Given the description of an element on the screen output the (x, y) to click on. 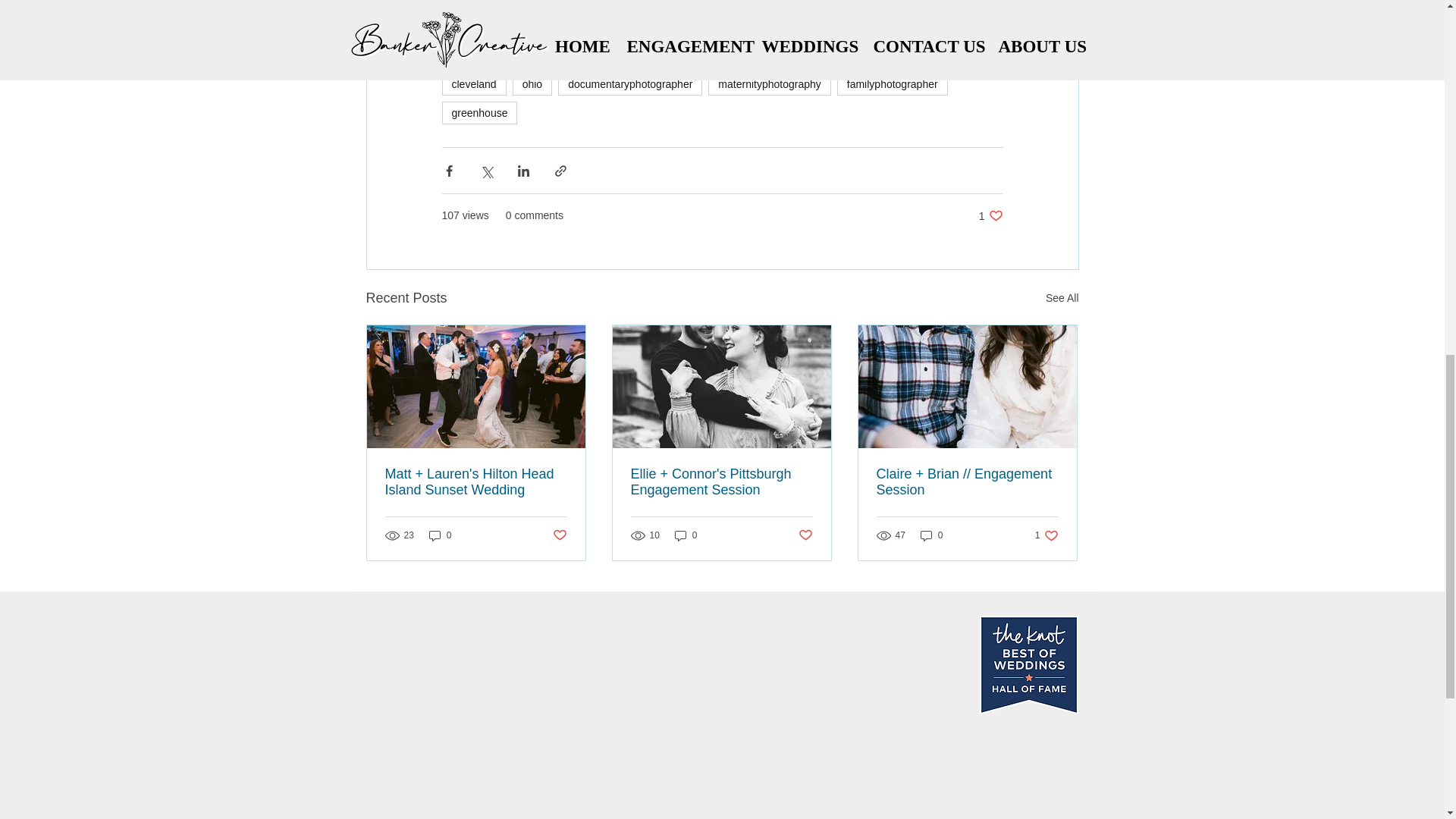
See All (1061, 298)
lifestylephotographer (635, 55)
Post not marked as liked (804, 535)
cleveland (473, 83)
0 (685, 534)
familyphotographer (892, 83)
maternityphotography (768, 83)
greenhouse (478, 112)
ohio (531, 83)
rockefellerparkgreenhouse (990, 215)
0 (874, 55)
maternityphotos (440, 534)
Post not marked as liked (748, 55)
Joebankerphotography (558, 535)
